Given the description of an element on the screen output the (x, y) to click on. 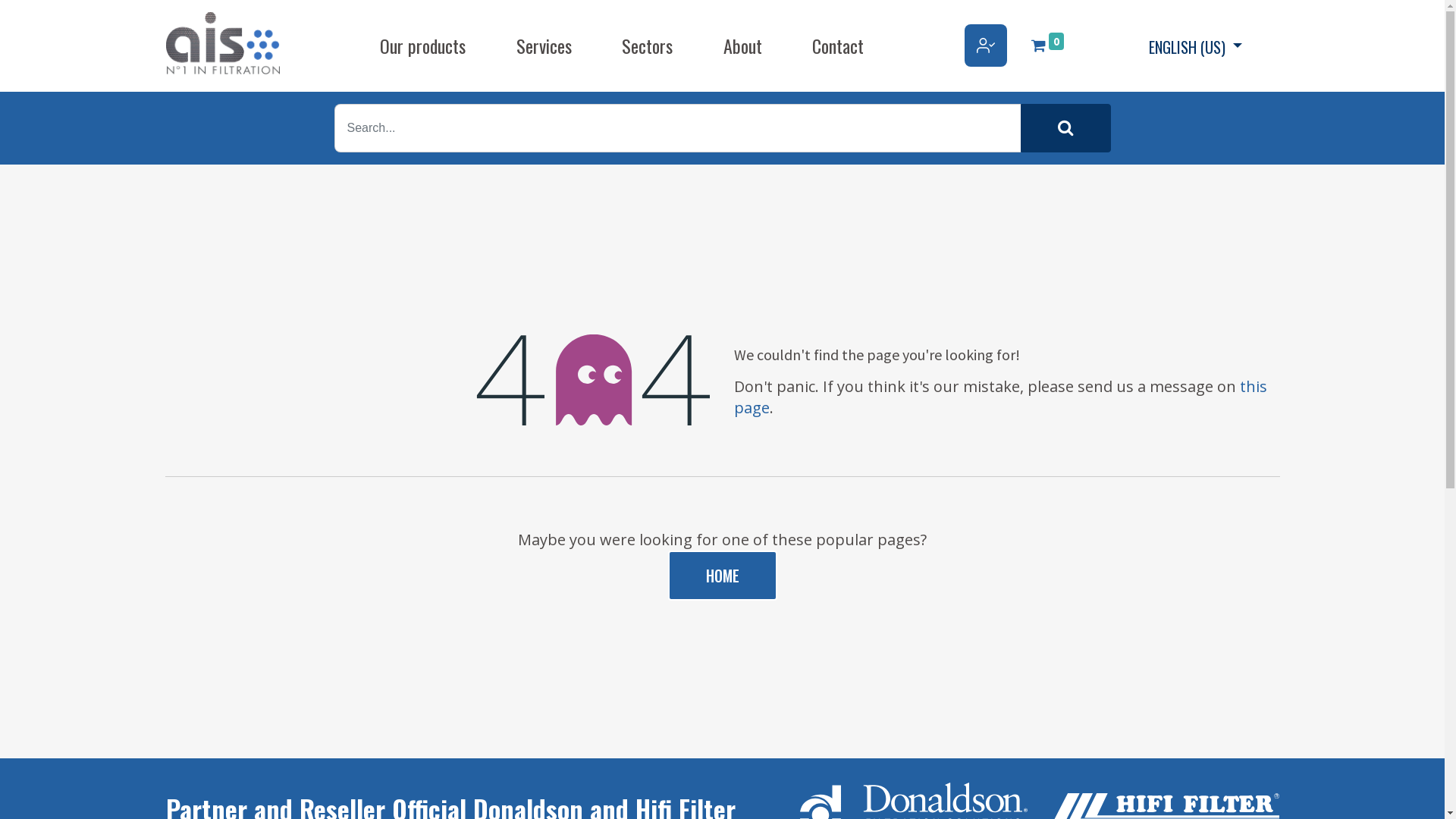
About Element type: text (742, 46)
HOME Element type: text (721, 575)
ENGLISH (US) Element type: text (1195, 45)
Sectors Element type: text (646, 46)
Search Element type: hover (1065, 127)
this page Element type: text (1000, 396)
Contact Element type: text (837, 46)
0 Element type: text (1047, 45)
Our products Element type: text (422, 46)
Services Element type: text (543, 46)
